Given the description of an element on the screen output the (x, y) to click on. 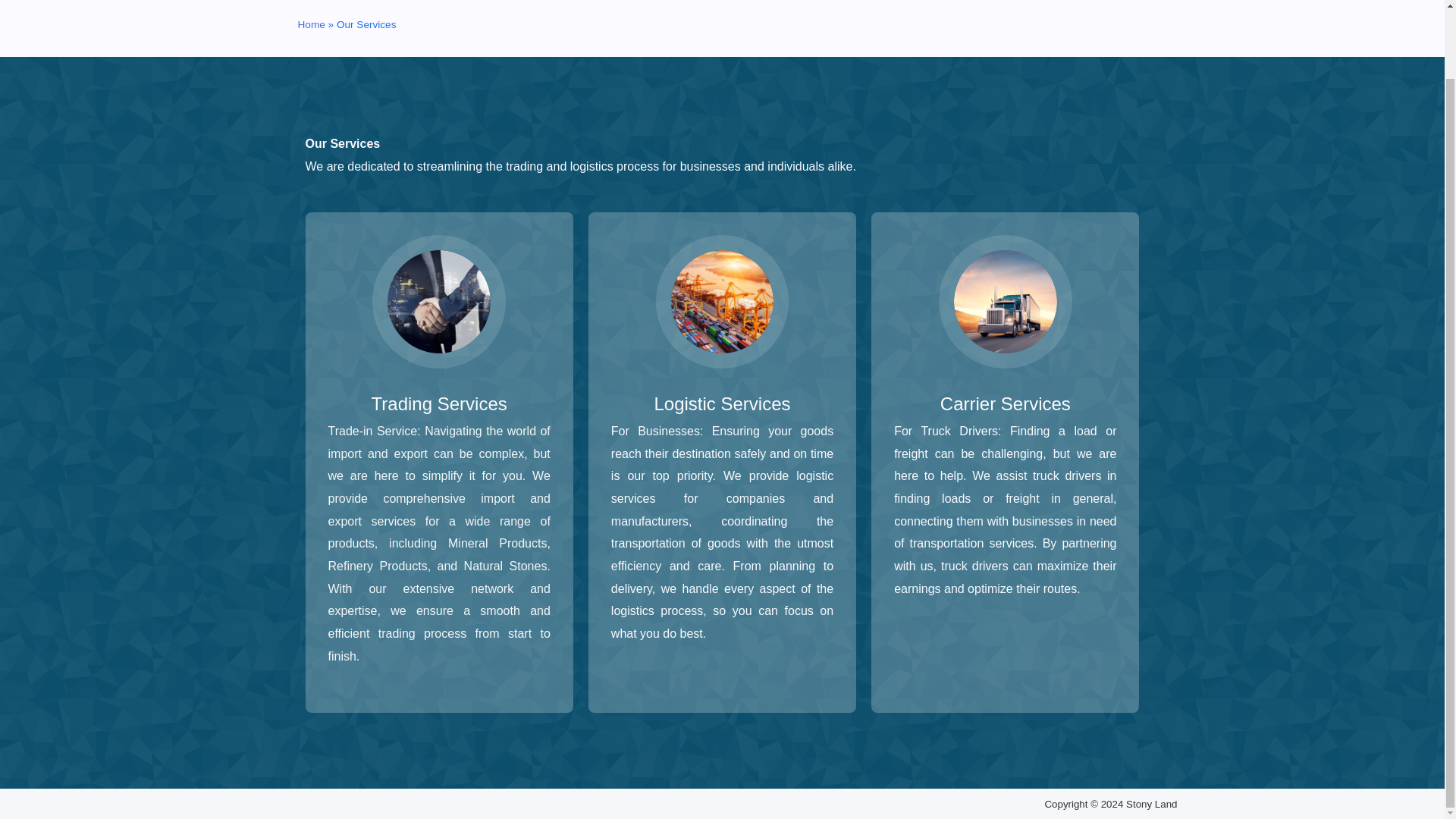
Home (310, 24)
